Given the description of an element on the screen output the (x, y) to click on. 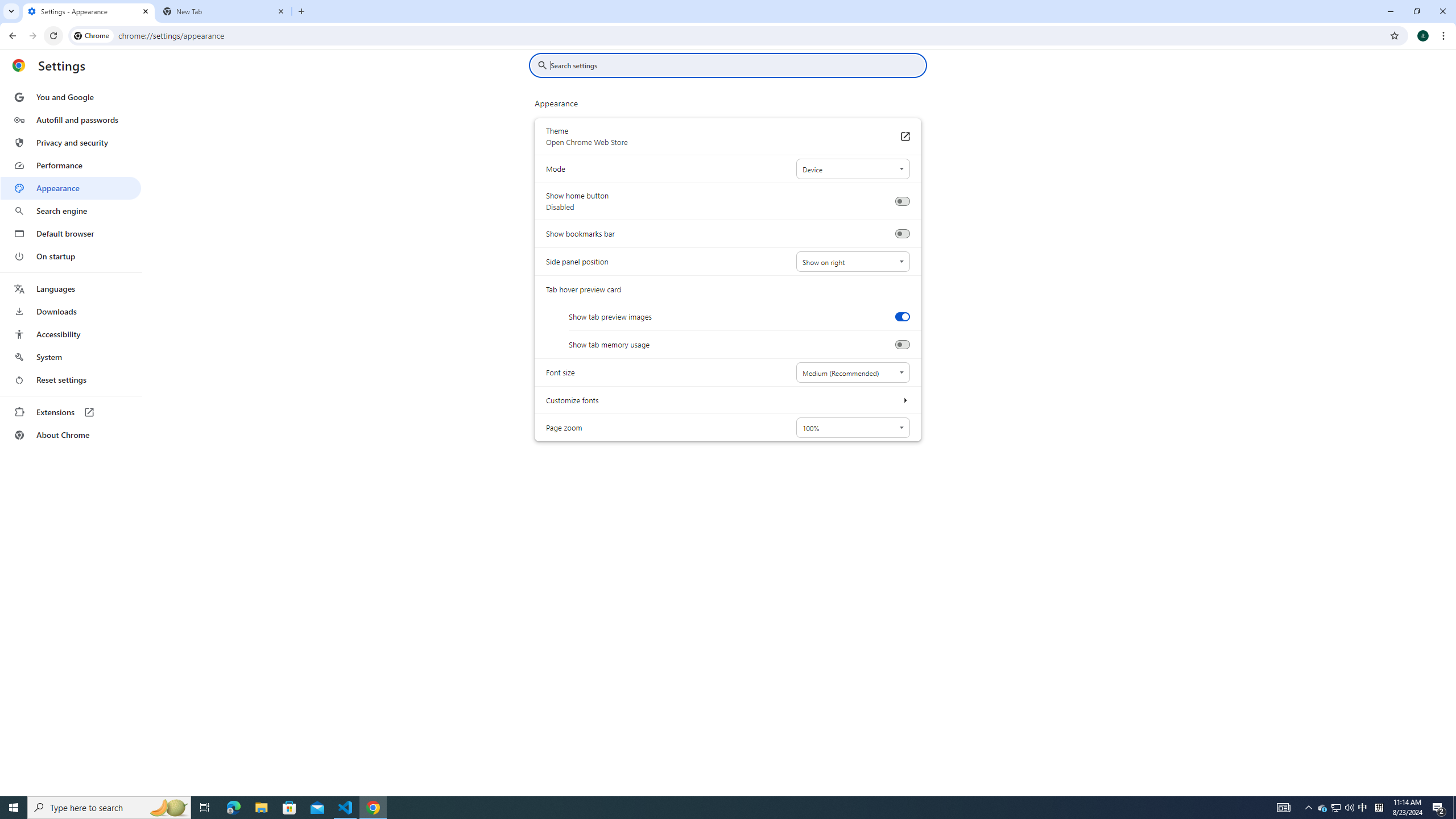
Minimize (1390, 11)
Autofill and passwords (70, 119)
Chrome (1445, 35)
Search settings (735, 65)
Downloads (70, 311)
New Tab (301, 11)
Theme Open Chrome Web Store (904, 136)
Extensions (70, 412)
Show tab memory usage (901, 344)
Forward (32, 35)
New Tab (224, 11)
Reset settings (70, 379)
